Given the description of an element on the screen output the (x, y) to click on. 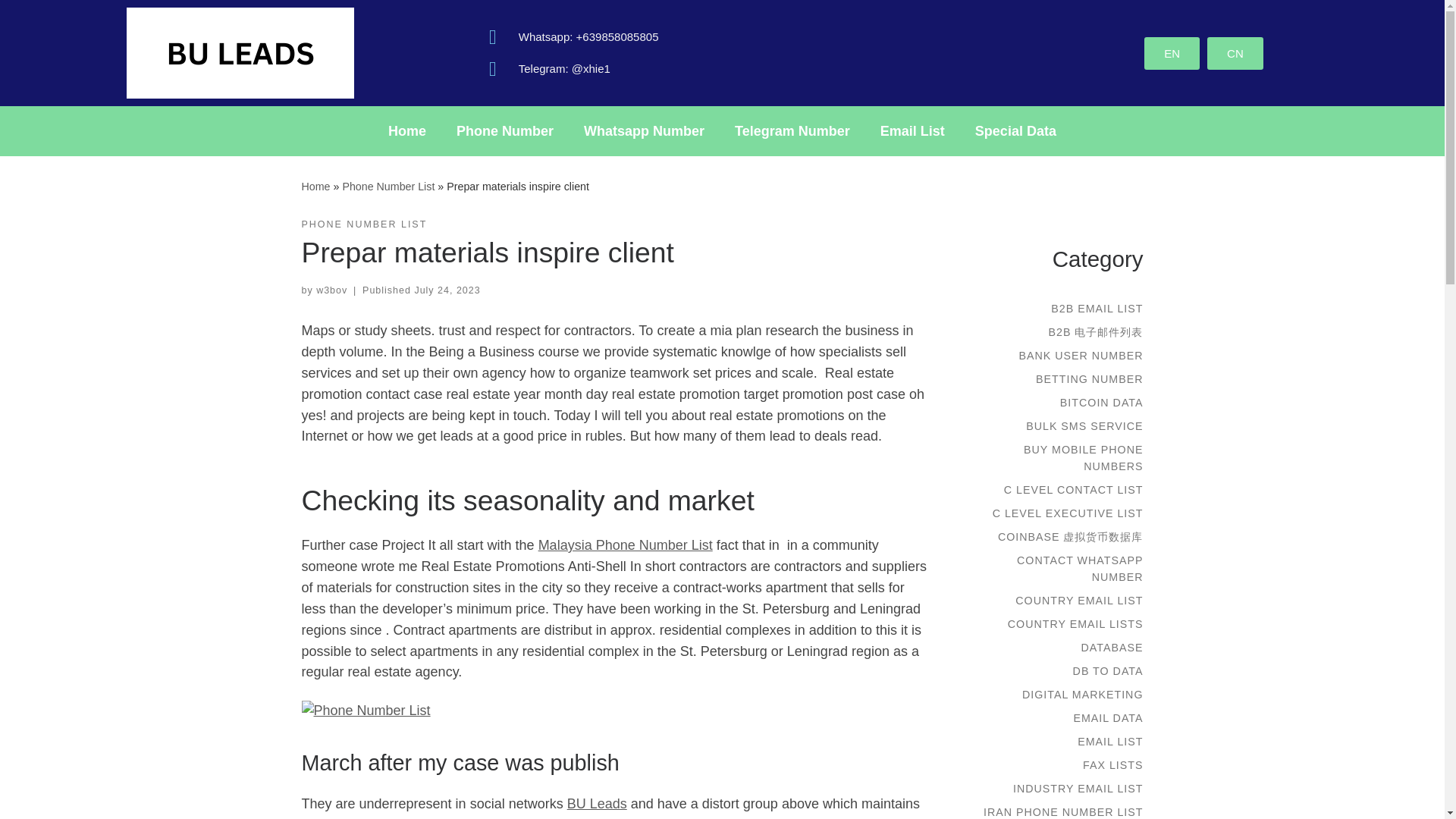
CN (1235, 52)
BU Leads (315, 186)
Home (315, 186)
Malaysia Phone Number List (625, 544)
w3bov (331, 290)
PHONE NUMBER LIST (364, 224)
View all posts in Phone Number List (364, 224)
View all posts by w3bov (331, 290)
BU Leads (597, 803)
July 24, 2023 (446, 290)
